Given the description of an element on the screen output the (x, y) to click on. 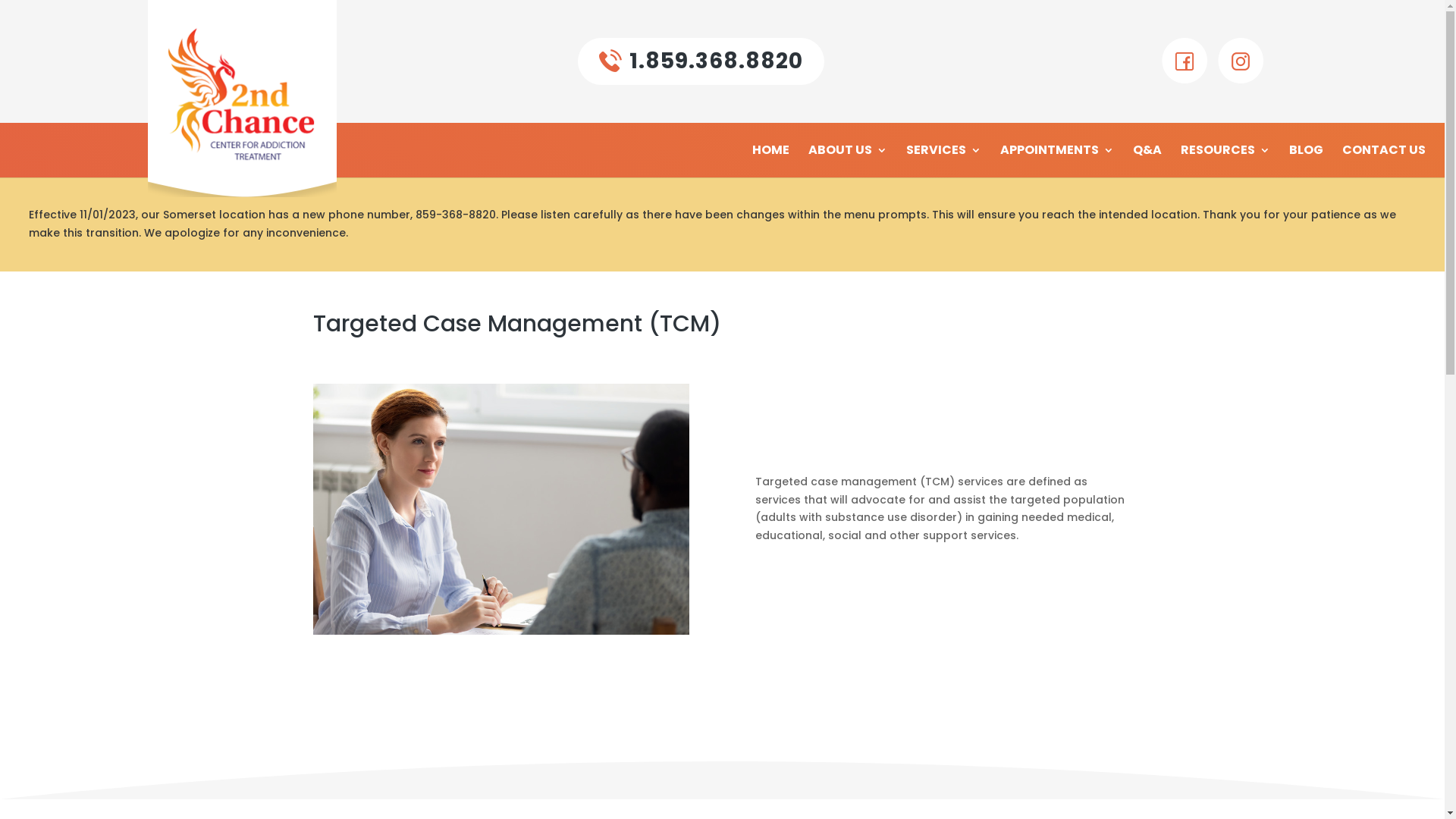
SERVICES Element type: text (943, 160)
APPOINTMENTS Element type: text (1056, 160)
Q&A Element type: text (1146, 160)
Previous Page Element type: text (28, 12)
HOME Element type: text (770, 160)
BLOG Element type: text (1306, 160)
1.859.368.8820 Element type: text (701, 60)
Next Page Element type: text (18, 12)
RESOURCES Element type: text (1225, 160)
ABOUT US Element type: text (847, 160)
CONTACT US Element type: text (1383, 160)
